Given the description of an element on the screen output the (x, y) to click on. 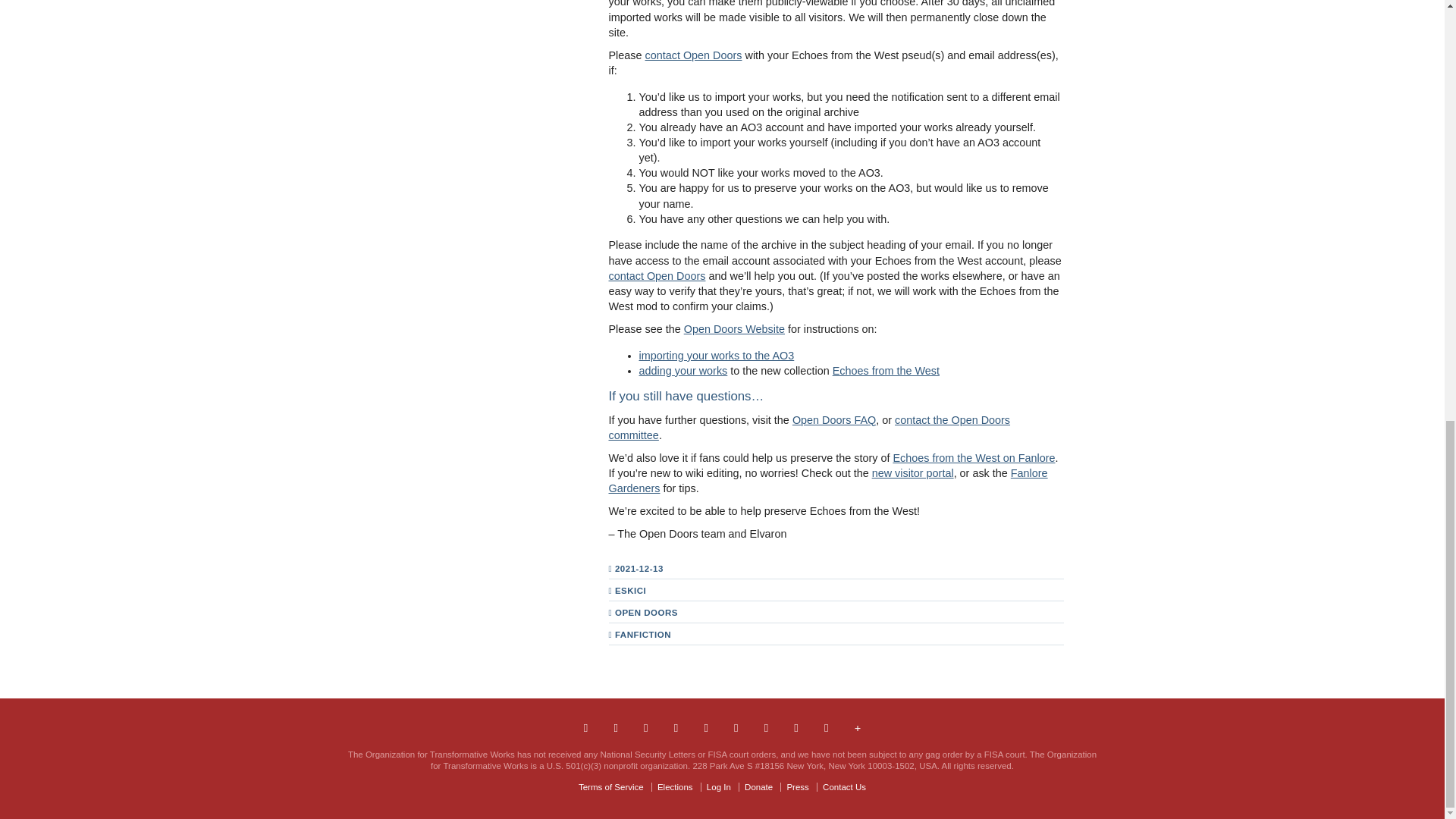
Github (795, 727)
Tumblr (675, 727)
Contact Us (585, 727)
Facebook (614, 727)
Twitter (645, 727)
Youtube (766, 727)
View all posts by Eskici (630, 590)
Vimeo (735, 727)
18:07 (642, 568)
More (858, 727)
Linkedin (704, 727)
RSS (825, 727)
